Given the description of an element on the screen output the (x, y) to click on. 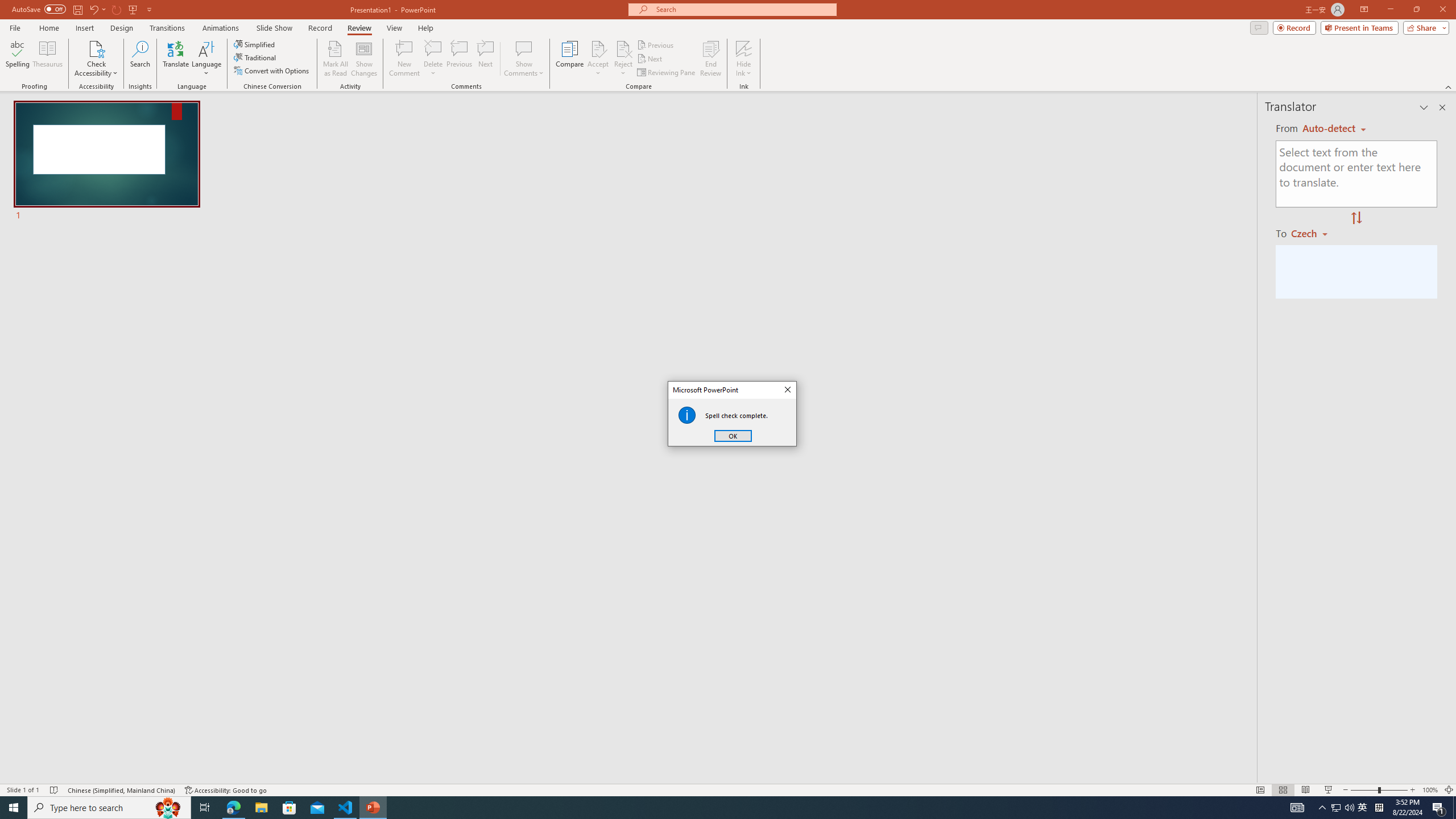
Reviewing Pane (666, 72)
Class: Static (686, 415)
Compare (569, 58)
Reject Change (622, 48)
